Given the description of an element on the screen output the (x, y) to click on. 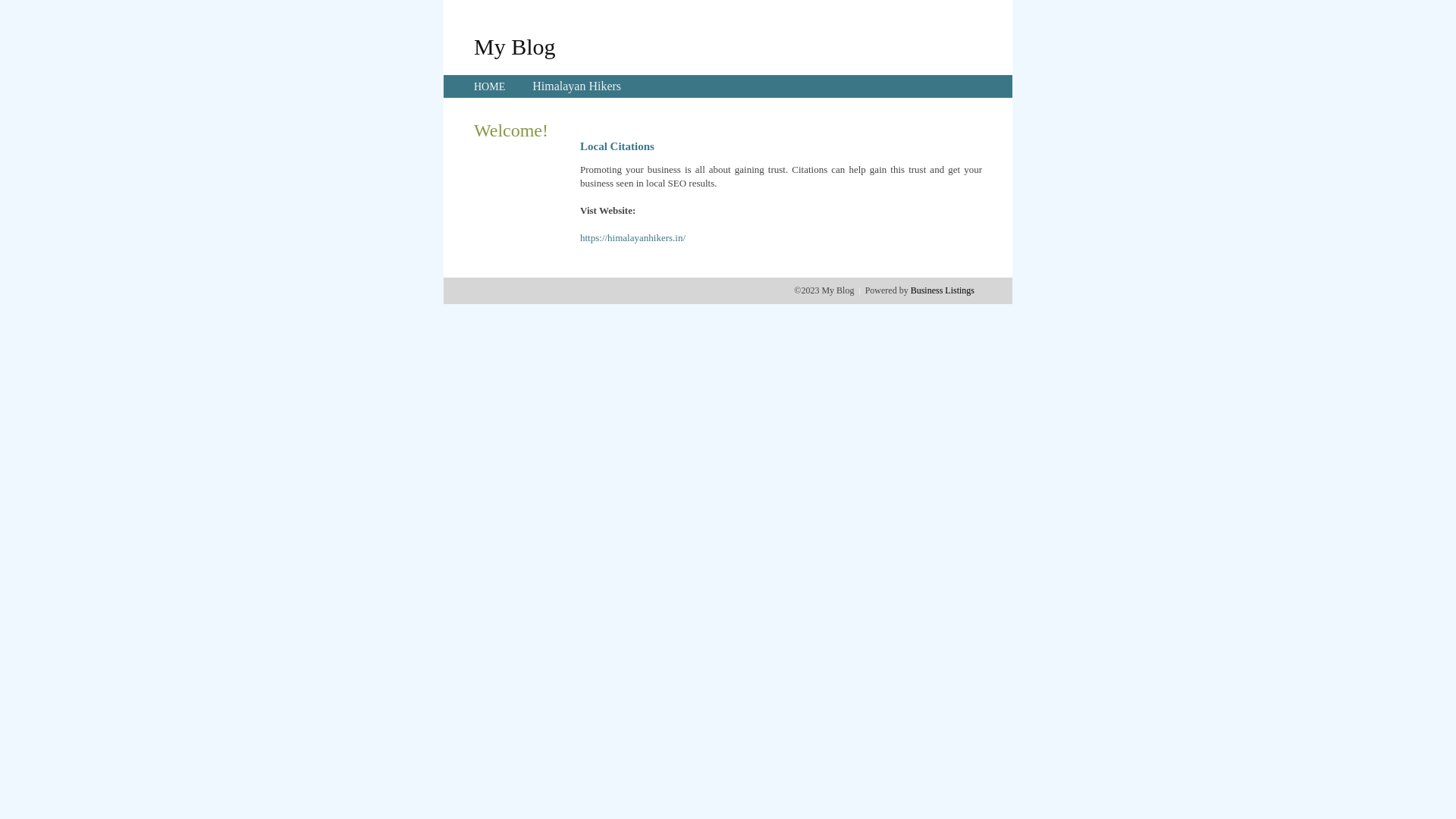
https://himalayanhikers.in/ Element type: text (632, 237)
Business Listings Element type: text (942, 290)
HOME Element type: text (489, 86)
Himalayan Hikers Element type: text (576, 85)
My Blog Element type: text (514, 46)
